Given the description of an element on the screen output the (x, y) to click on. 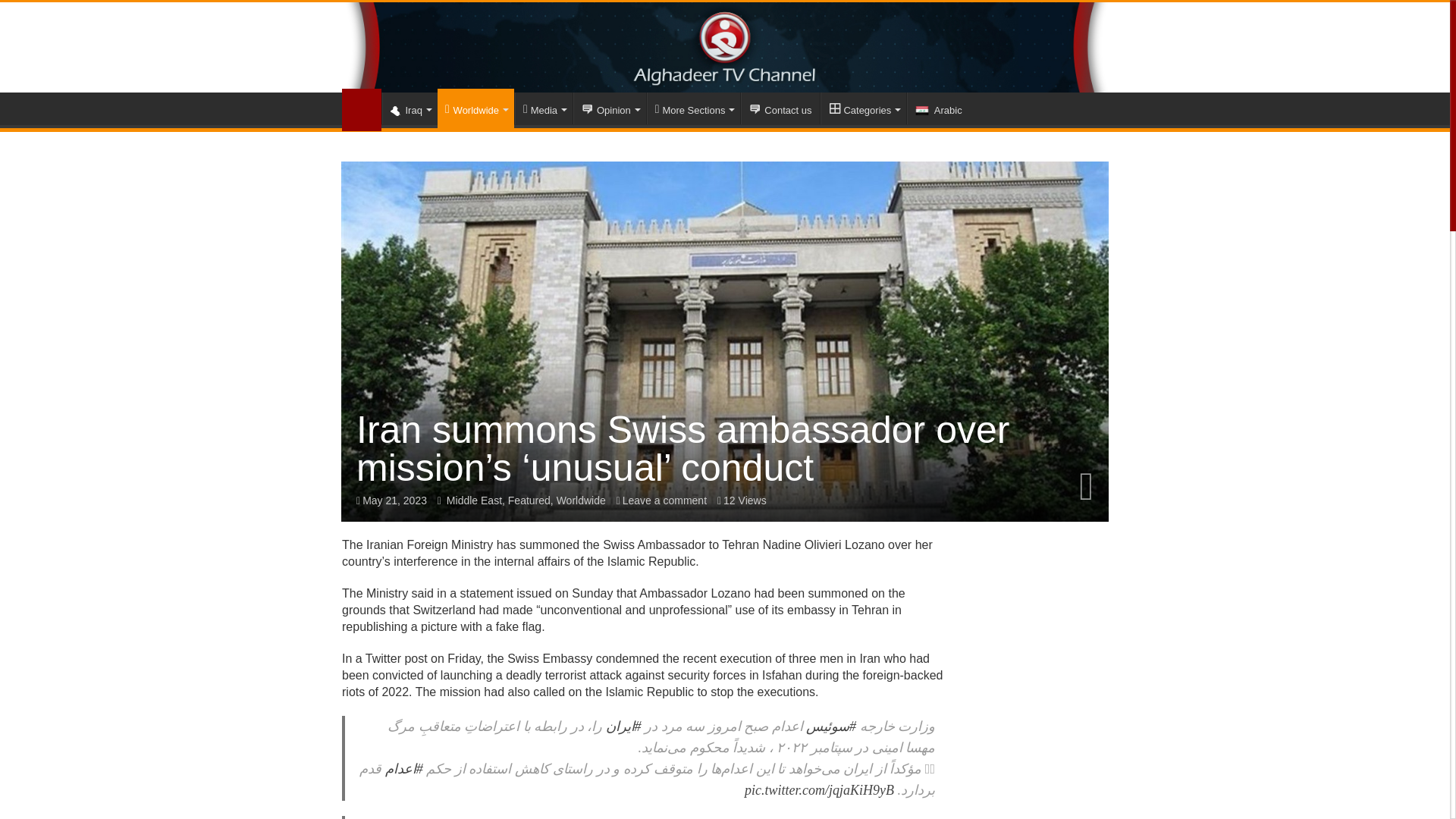
Iraq (409, 108)
Alghadeer TV (725, 47)
Home (361, 109)
Worldwide (475, 107)
